Given the description of an element on the screen output the (x, y) to click on. 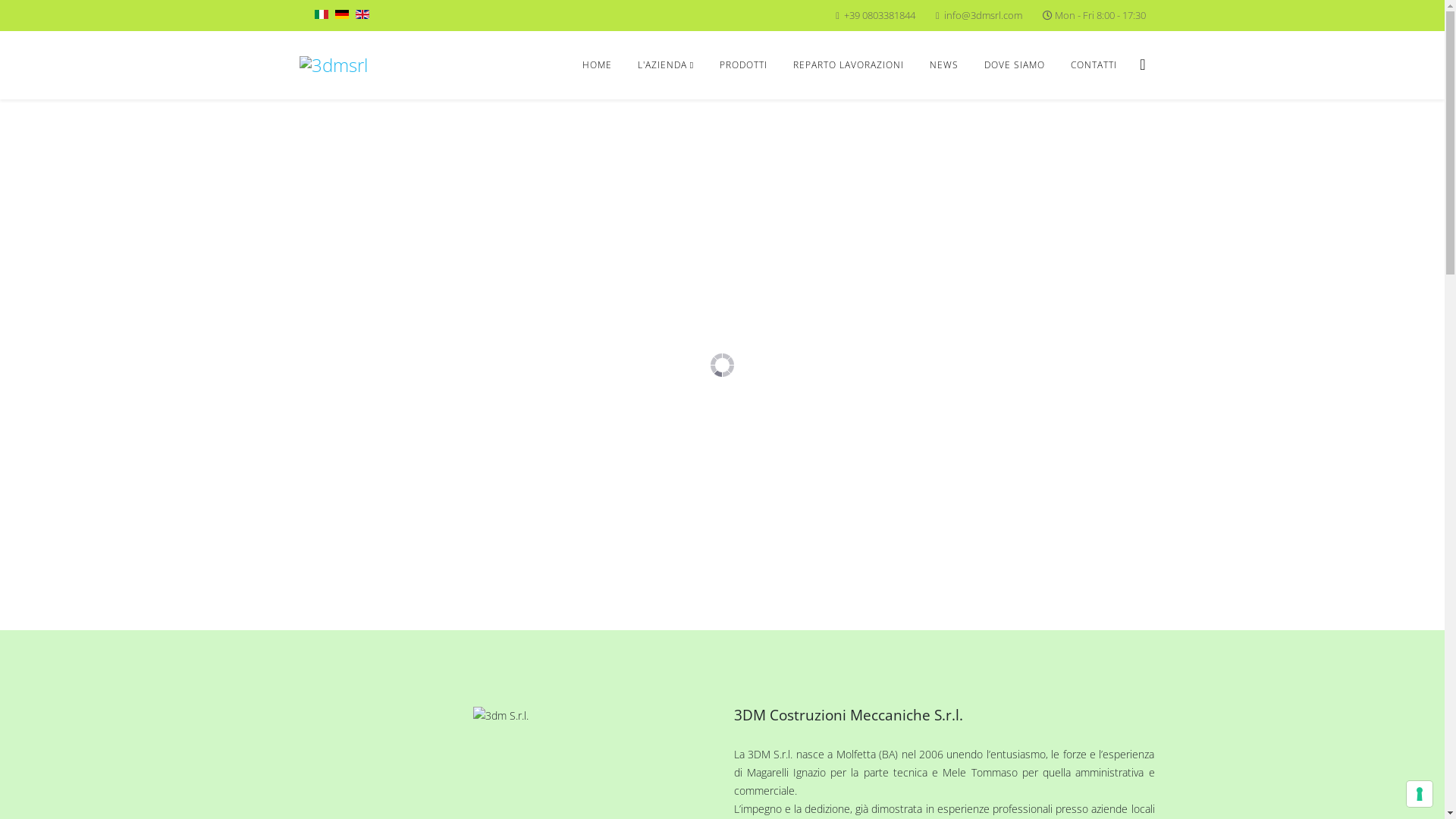
info@3dmsrl.com Element type: text (982, 15)
PRODOTTI Element type: text (743, 65)
L'AZIENDA Element type: text (665, 65)
Helix3 Megamenu Options Element type: hover (1142, 64)
English (UK) Element type: hover (361, 13)
Italiano Element type: hover (320, 13)
DOVE SIAMO Element type: text (1014, 65)
CONTATTI Element type: text (1093, 65)
+39 0803381844 Element type: text (879, 15)
NEWS Element type: text (943, 65)
REPARTO LAVORAZIONI Element type: text (848, 65)
Deutsch Element type: hover (341, 13)
HOME Element type: text (597, 65)
